Given the description of an element on the screen output the (x, y) to click on. 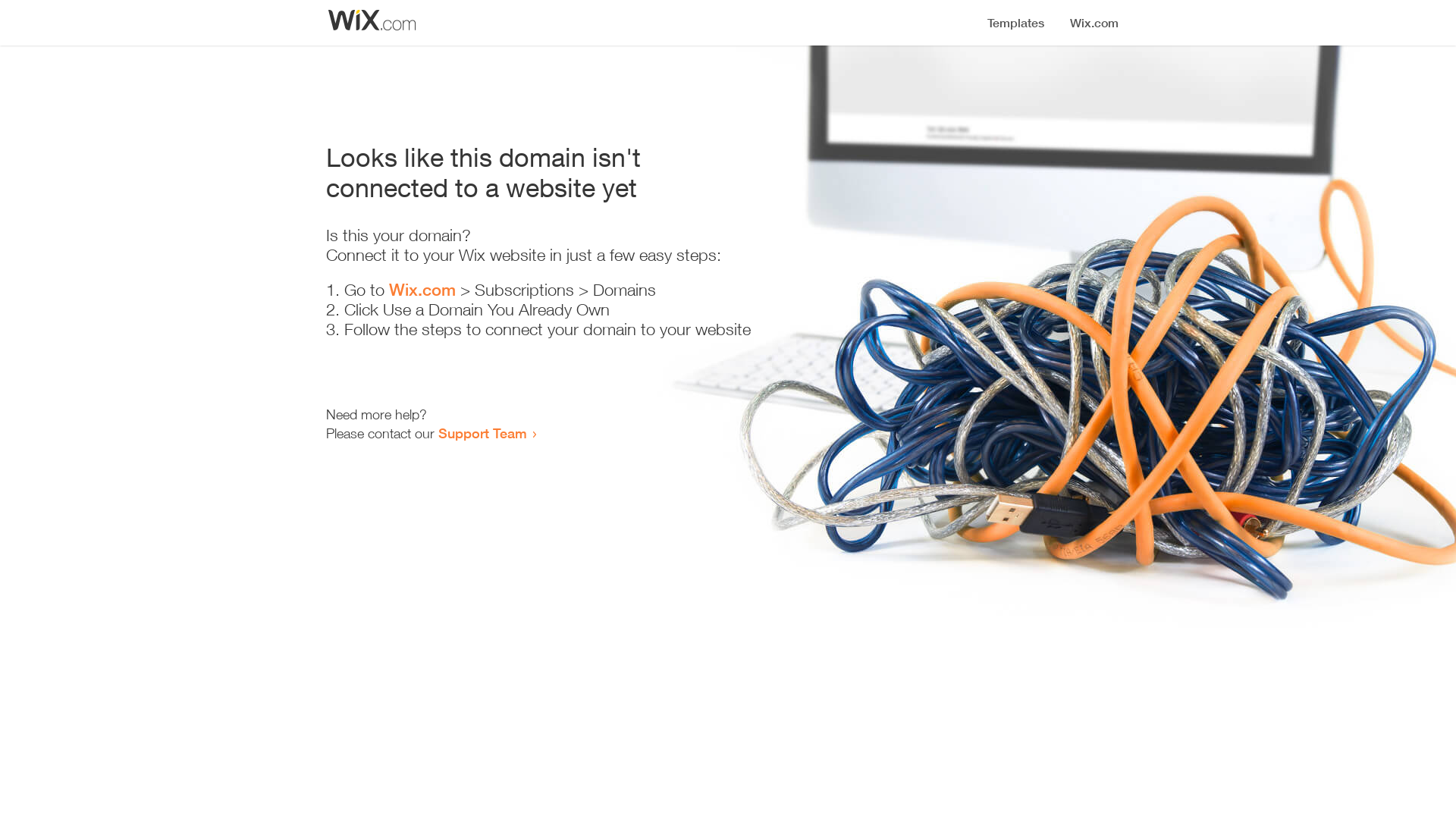
Support Team Element type: text (482, 432)
Wix.com Element type: text (422, 289)
